Given the description of an element on the screen output the (x, y) to click on. 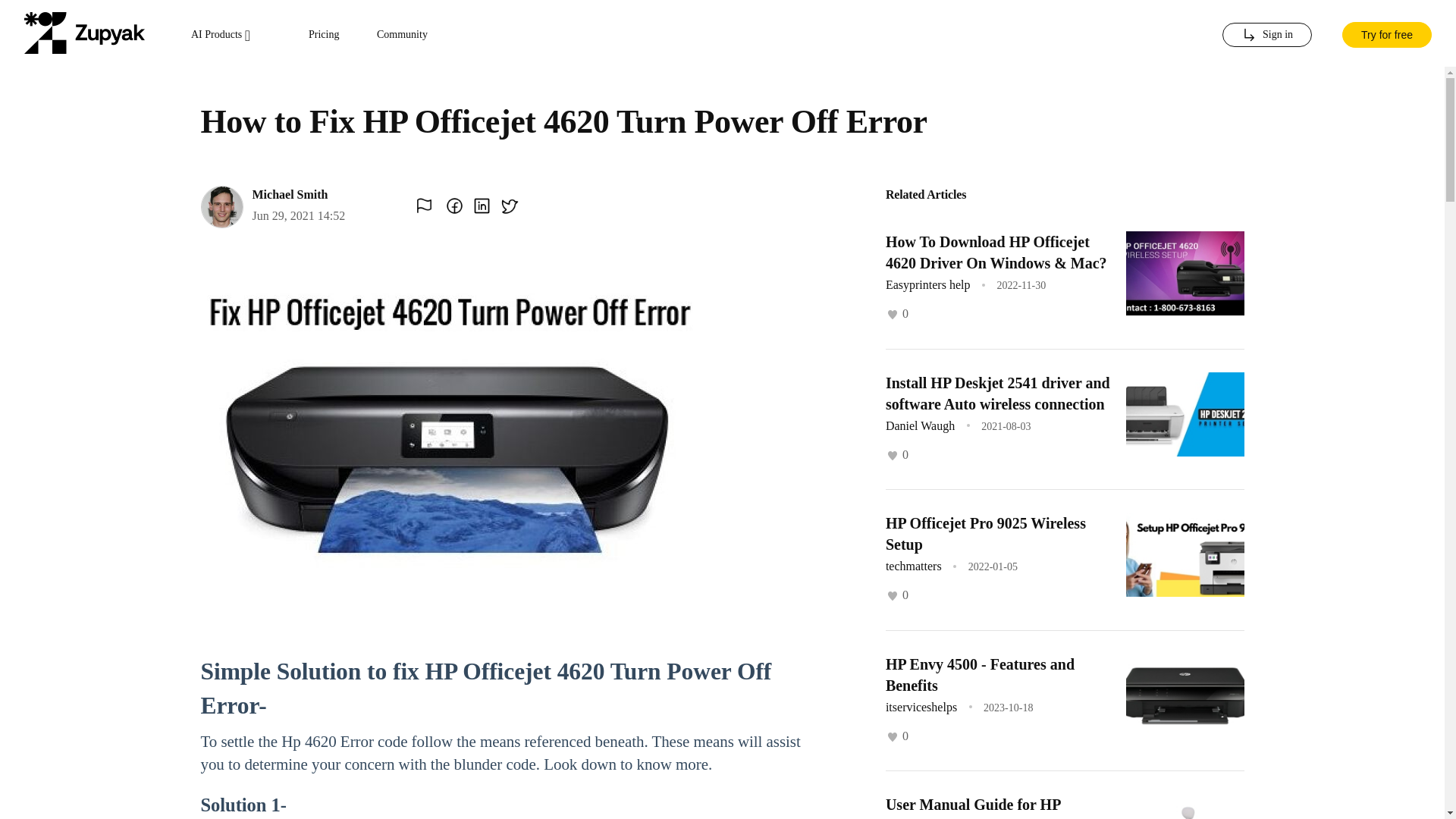
User Manual Guide for HP Officejet Pro 8100 Wireless Setup (993, 807)
Community (402, 34)
Pricing (323, 34)
 Sign in (1267, 34)
Try for free (1386, 33)
HP Envy 4500 - Features and Benefits (979, 673)
HP Officejet Pro 9025 Wireless Setup (985, 533)
